Given the description of an element on the screen output the (x, y) to click on. 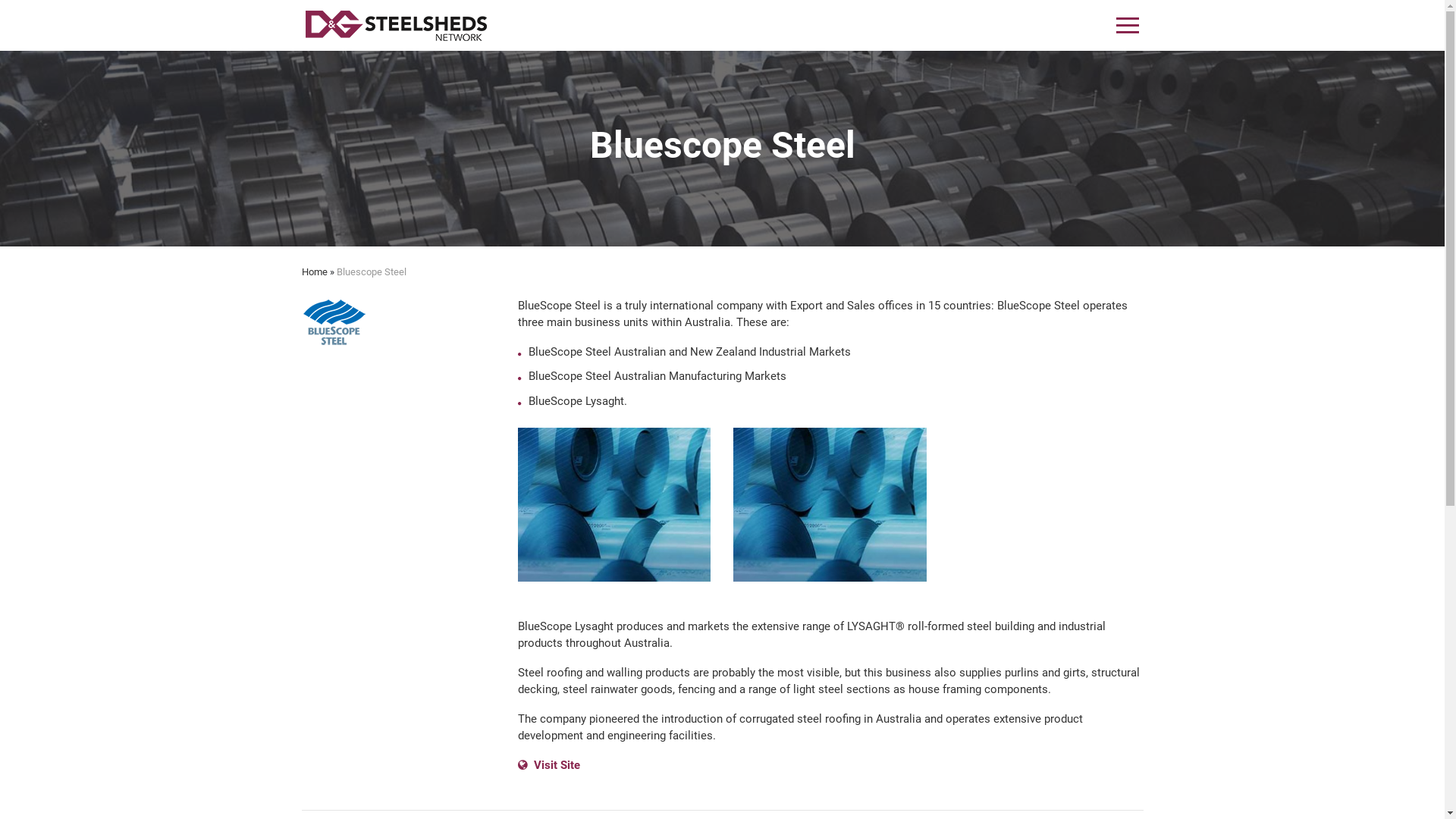
Home Element type: text (314, 271)
Visit Site Element type: text (548, 764)
